Given the description of an element on the screen output the (x, y) to click on. 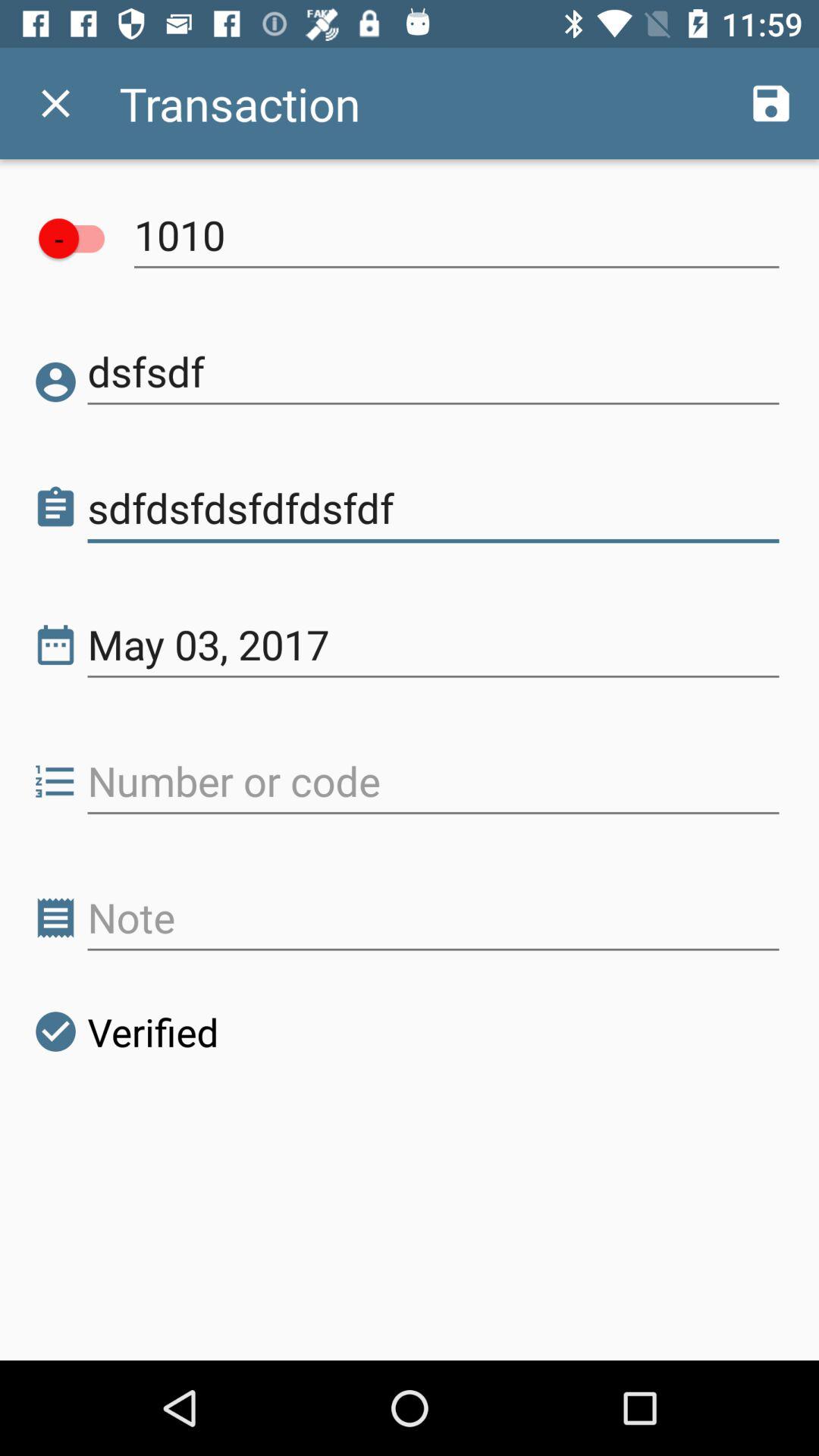
flip to the may 03, 2017 (433, 644)
